Given the description of an element on the screen output the (x, y) to click on. 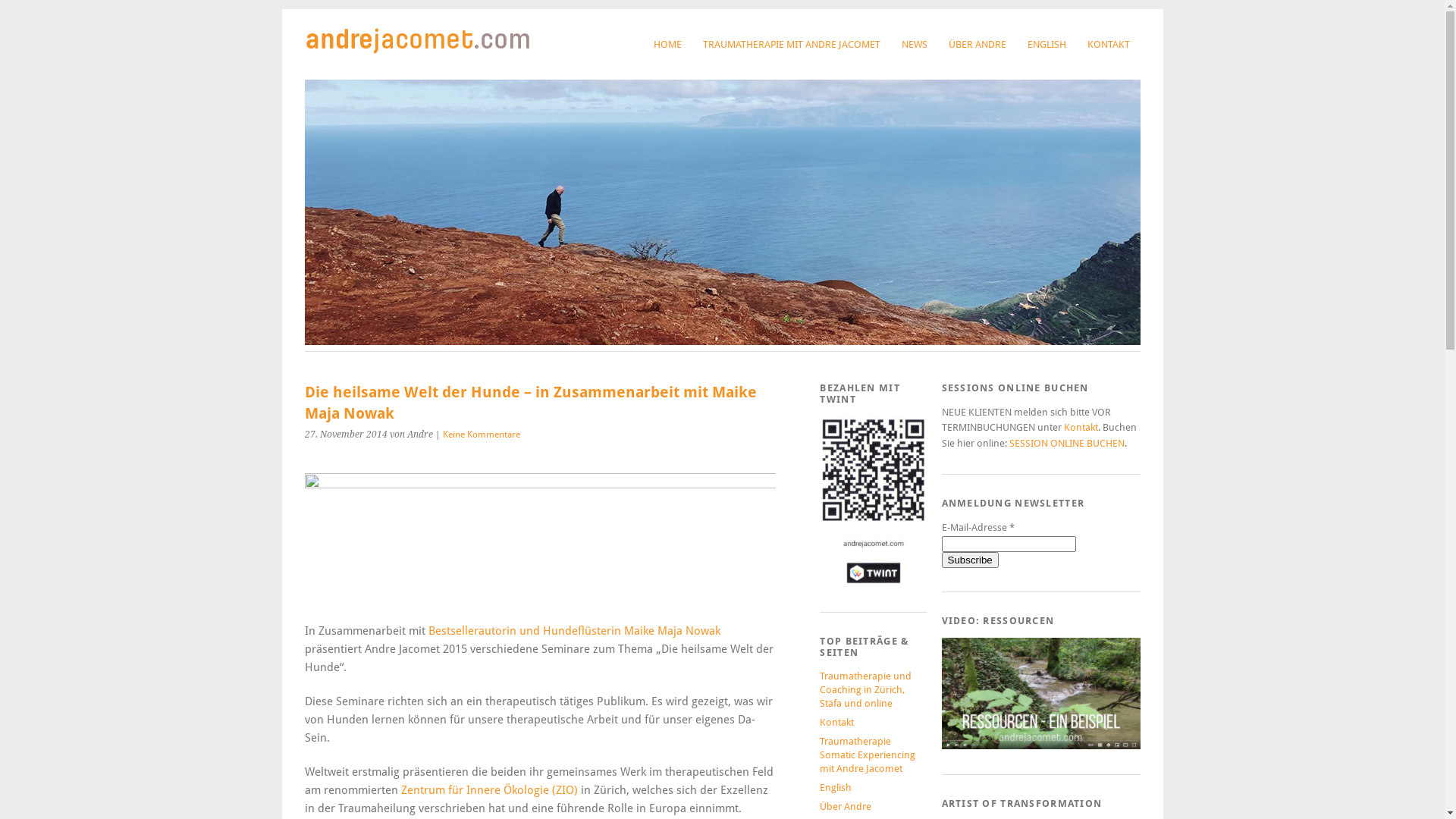
Video: Ressourcen Element type: hover (1040, 693)
English Element type: text (835, 787)
KONTAKT Element type: text (1108, 43)
SESSION ONLINE BUCHEN Element type: text (1065, 442)
HOME Element type: text (667, 43)
ENGLISH Element type: text (1046, 43)
Kontakt Element type: text (836, 722)
Subscribe Element type: text (969, 559)
TRAUMATHERAPIE MIT ANDRE JACOMET Element type: text (790, 43)
Kontakt Element type: text (1080, 427)
Keine Kommentare Element type: text (481, 434)
Traumatherapie Somatic Experiencing mit Andre Jacomet Element type: text (867, 754)
NEWS Element type: text (913, 43)
